Given the description of an element on the screen output the (x, y) to click on. 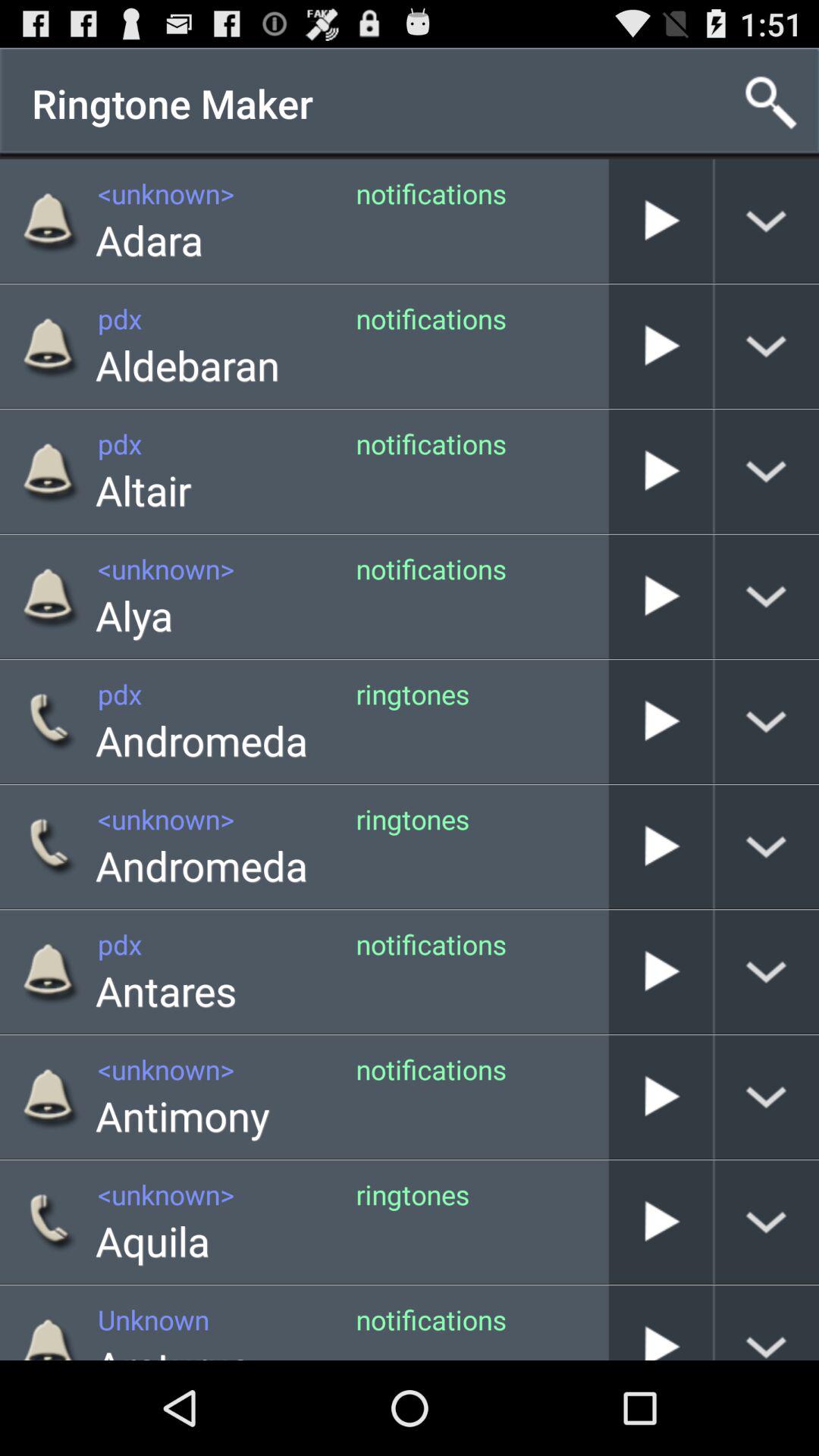
play (660, 596)
